Given the description of an element on the screen output the (x, y) to click on. 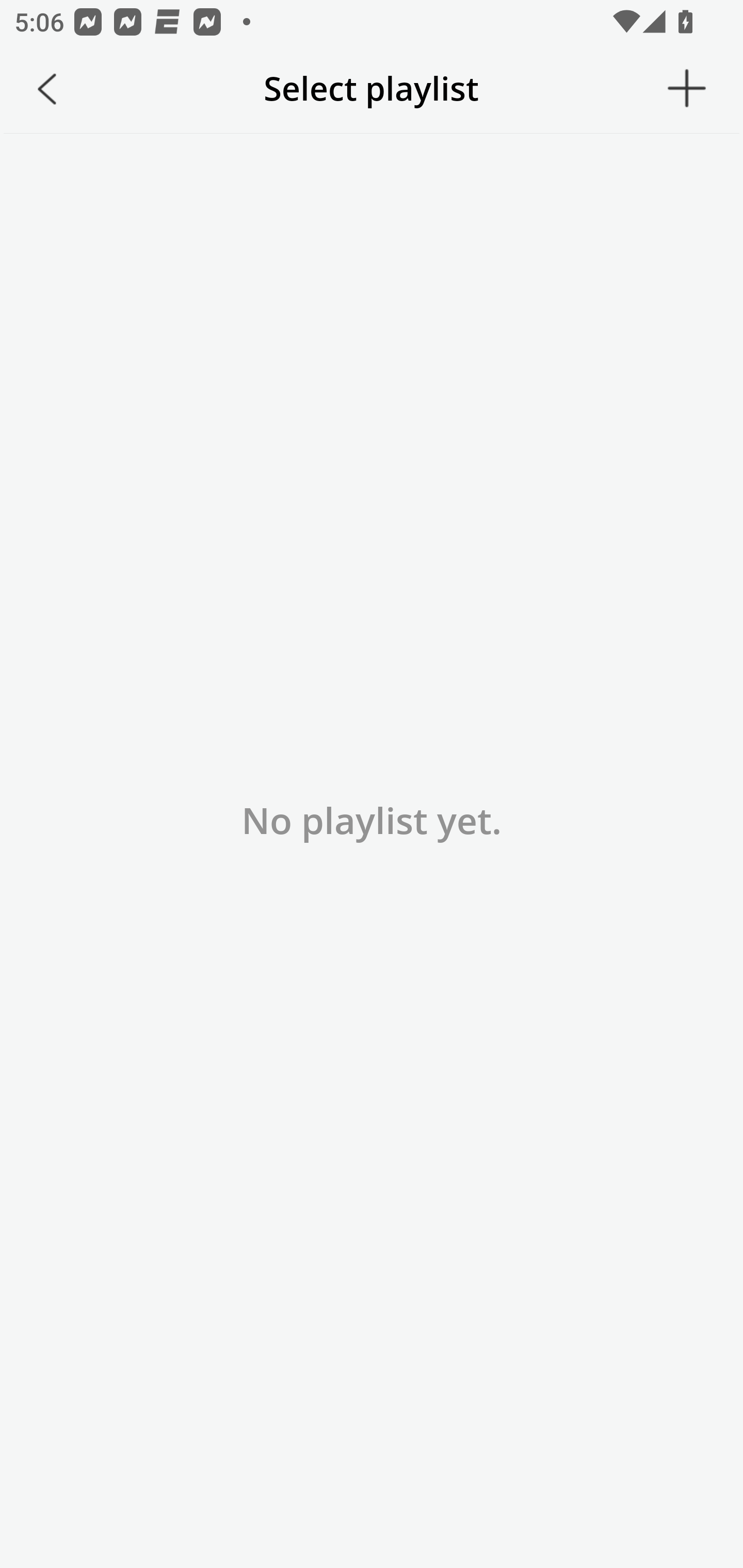
Back (46, 88)
